Given the description of an element on the screen output the (x, y) to click on. 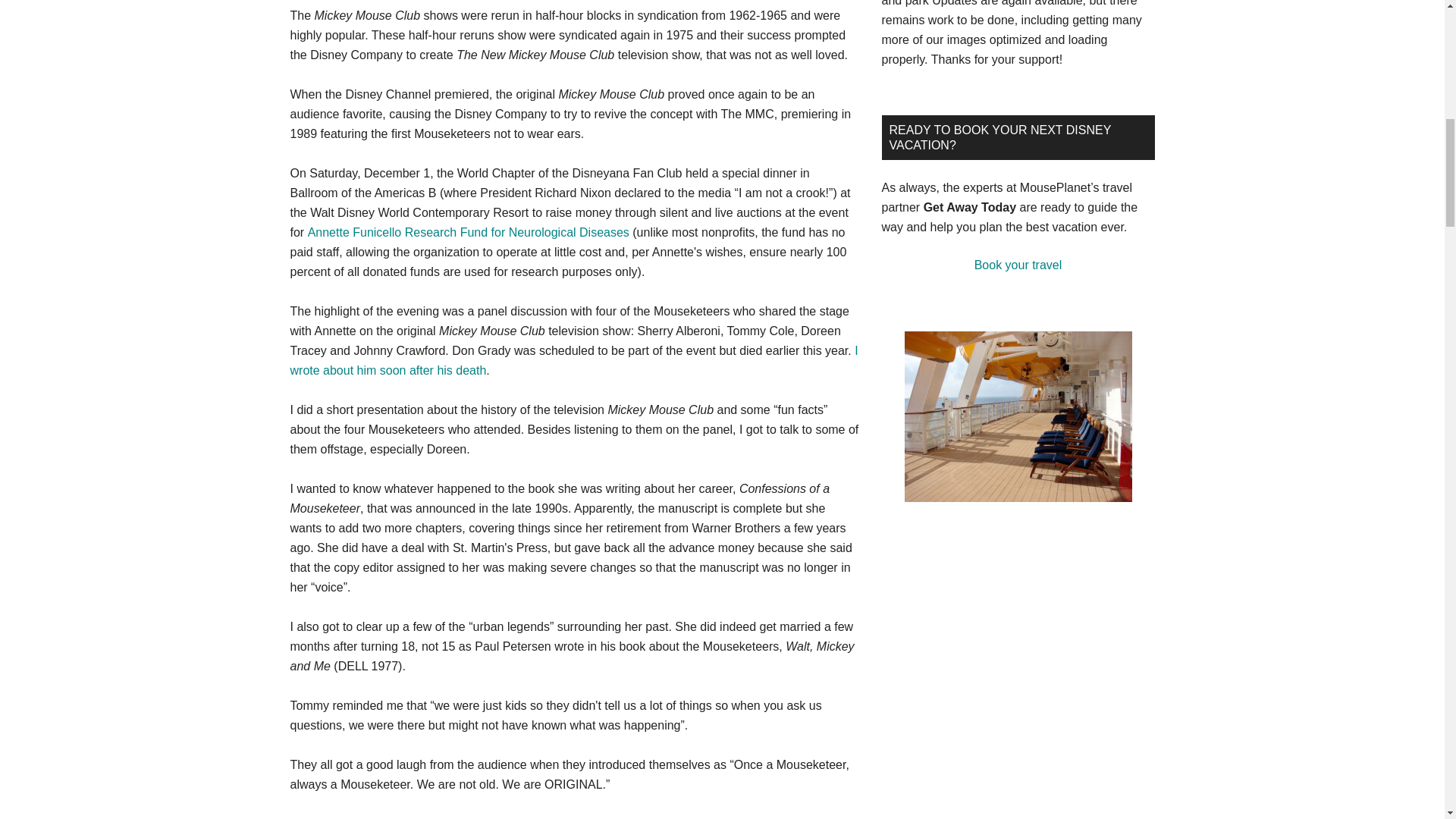
Book your travel (1018, 264)
I wrote about him soon after his death (573, 359)
Annette Funicello Research Fund for Neurological Diseases (467, 232)
